Given the description of an element on the screen output the (x, y) to click on. 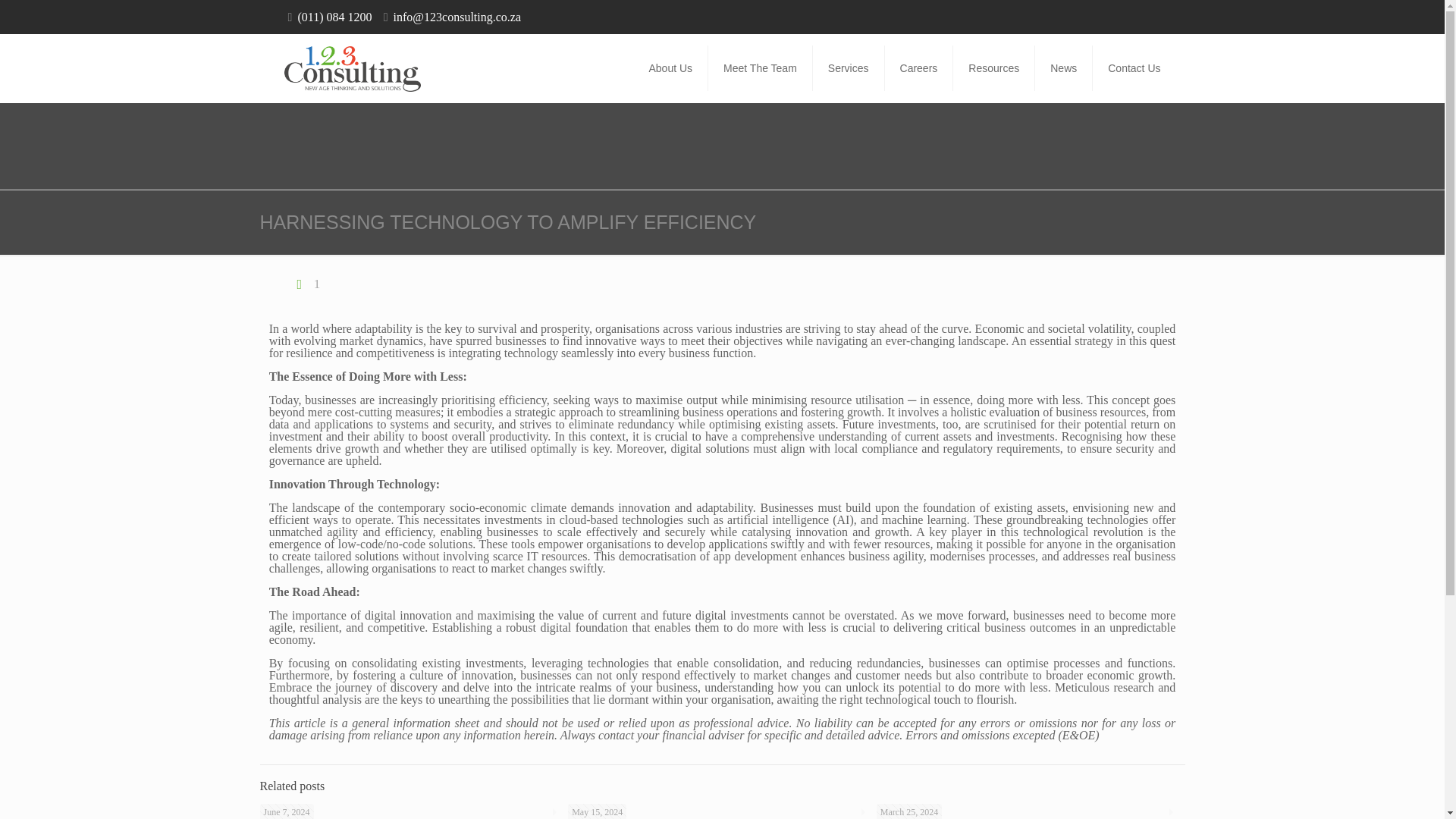
123 Consulting (351, 68)
Careers (919, 68)
1 (306, 283)
Services (848, 68)
Contact Us (1133, 68)
Meet The Team (759, 68)
About Us (670, 68)
Resources (994, 68)
